Given the description of an element on the screen output the (x, y) to click on. 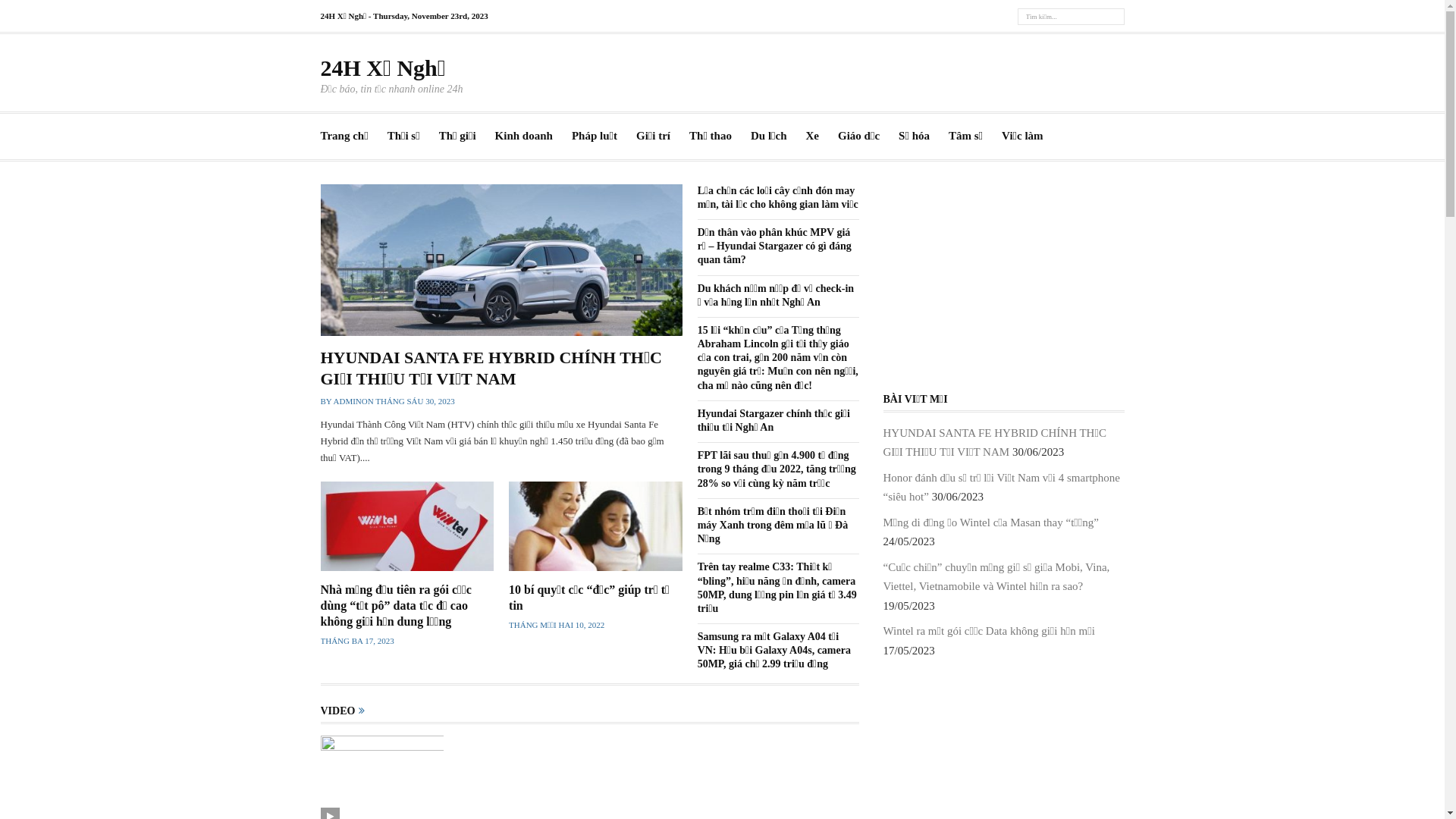
Kinh doanh Element type: text (523, 136)
VIDEO Element type: text (337, 710)
Advertisement Element type: hover (1002, 278)
ADMIN Element type: text (347, 400)
Xe Element type: text (812, 136)
